Given the description of an element on the screen output the (x, y) to click on. 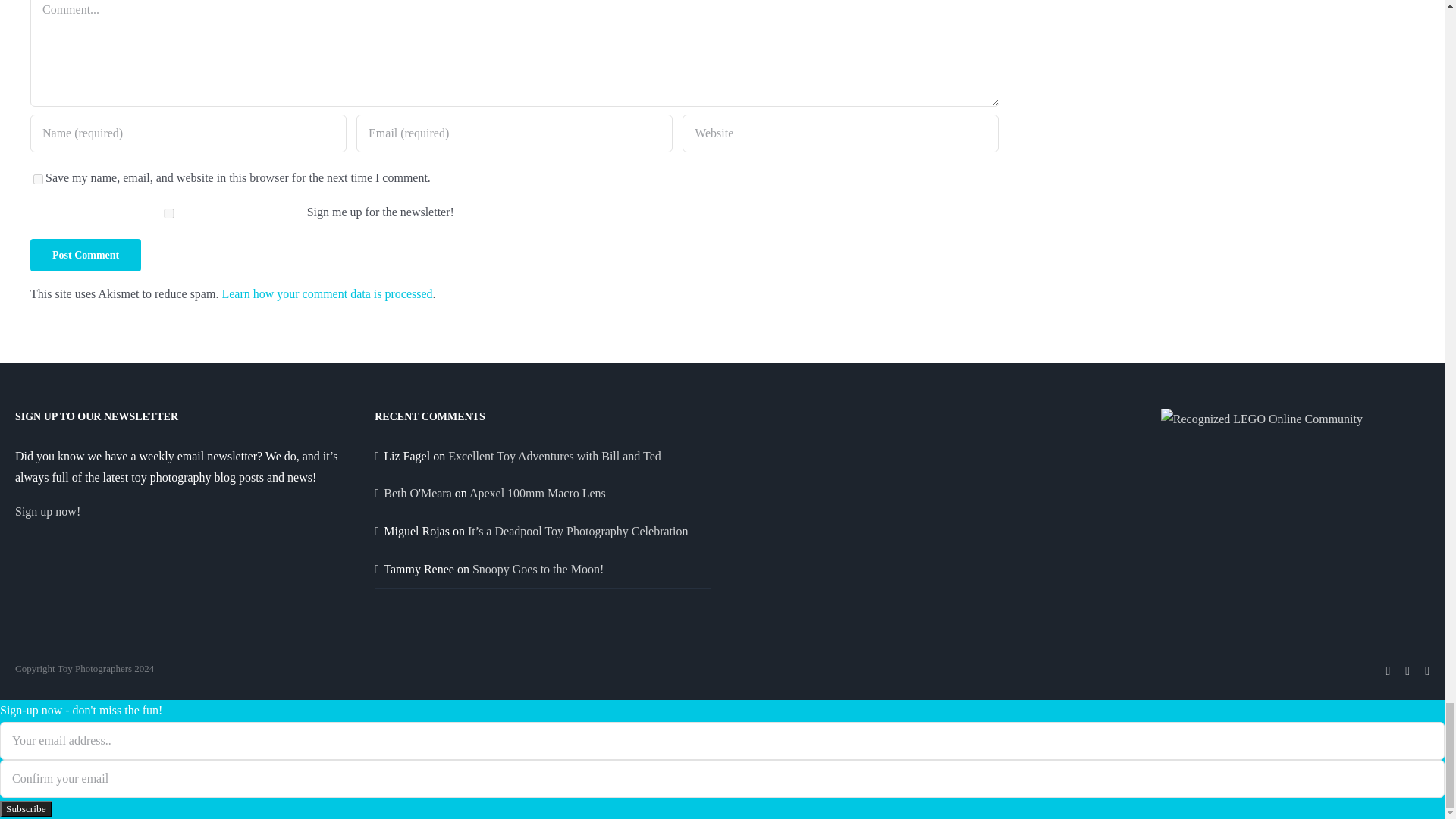
yes (38, 179)
Post Comment (85, 255)
Subscribe (26, 808)
1 (168, 213)
